Given the description of an element on the screen output the (x, y) to click on. 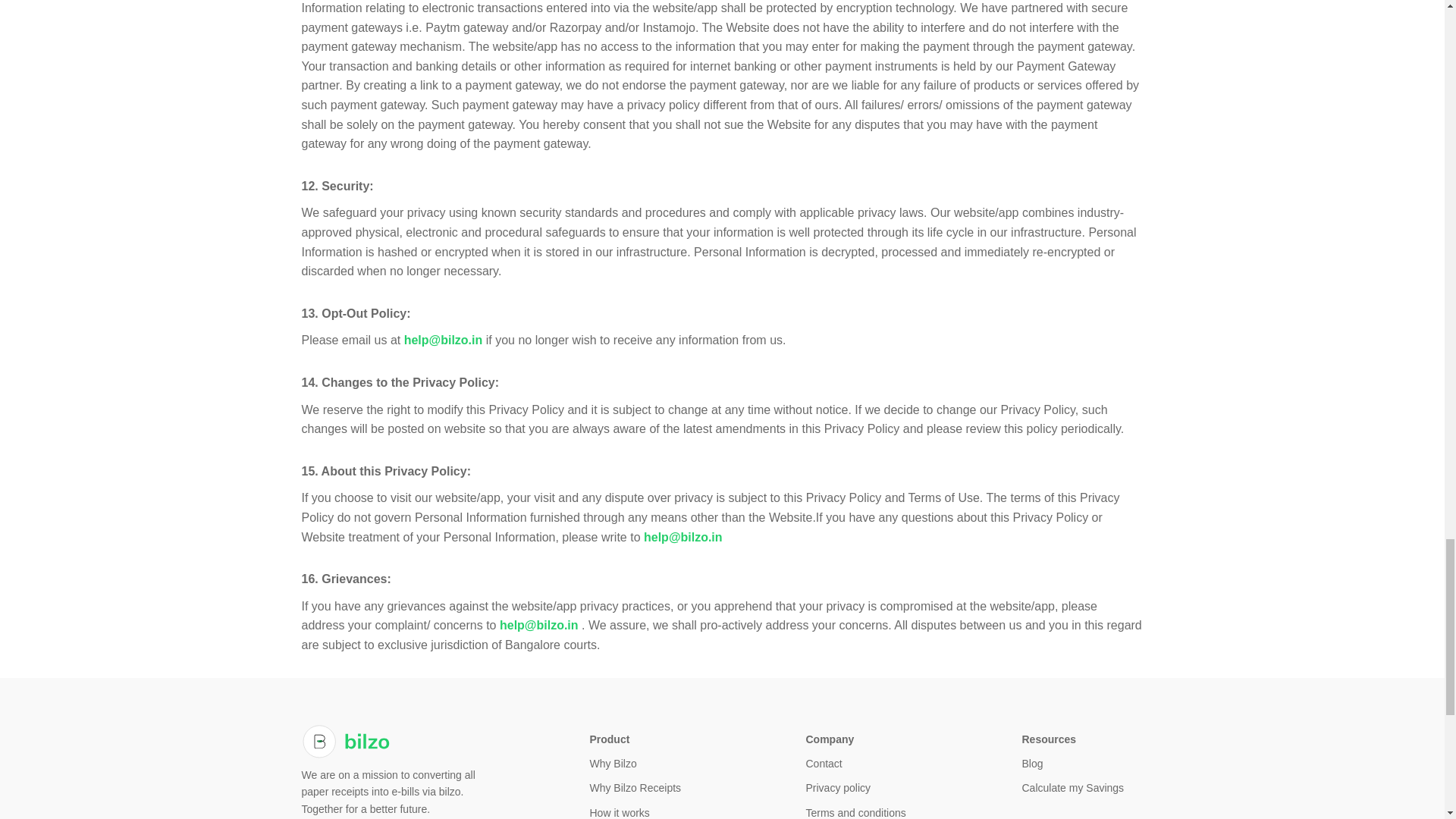
Why Bilzo Receipts (635, 787)
Blog (1032, 763)
Why Bilzo (612, 763)
Calculate my Savings (1073, 787)
How it works (619, 812)
Terms and conditions (855, 812)
Contact (823, 763)
Privacy policy (837, 787)
